Given the description of an element on the screen output the (x, y) to click on. 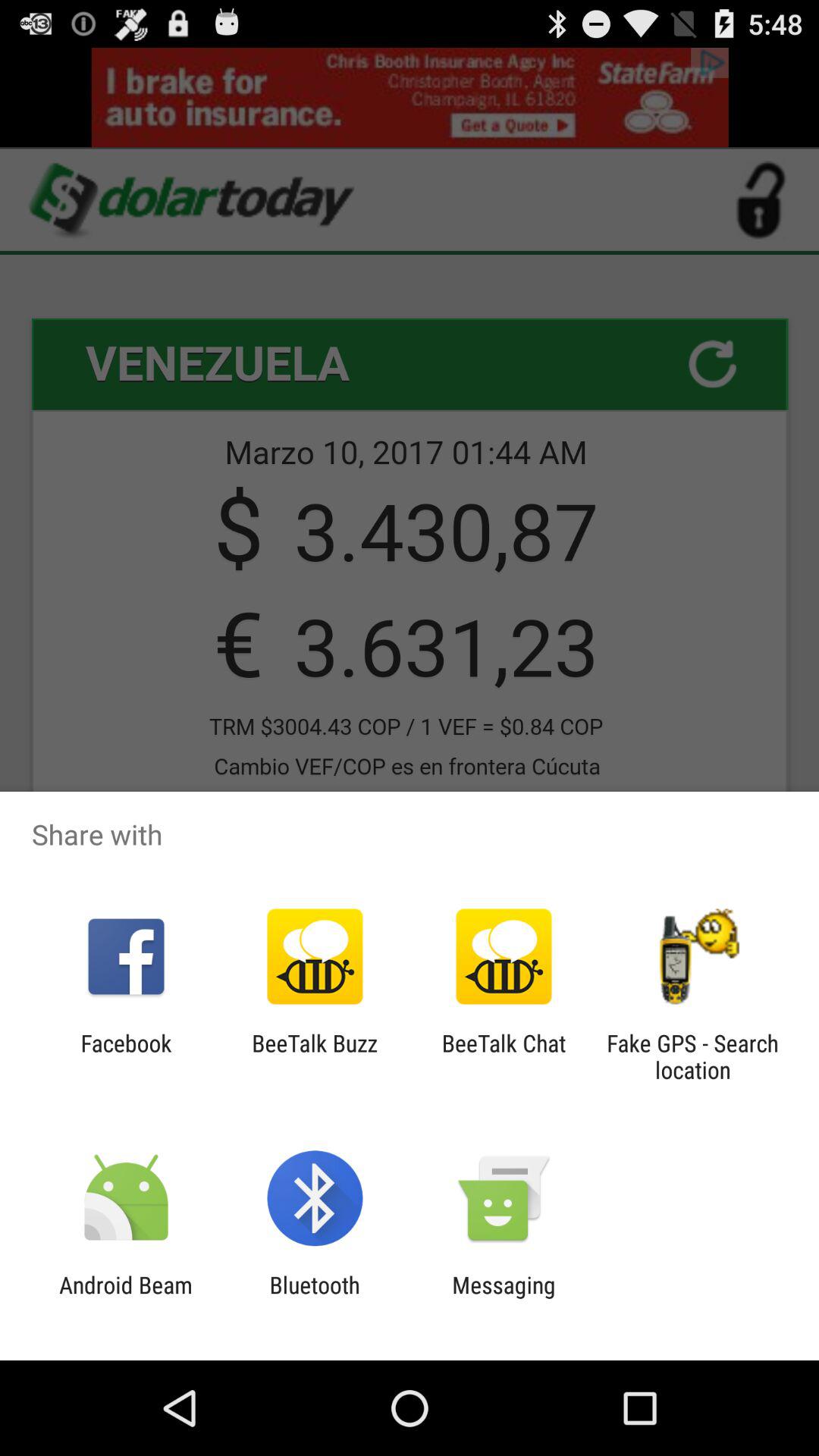
turn off icon to the left of bluetooth icon (125, 1298)
